Given the description of an element on the screen output the (x, y) to click on. 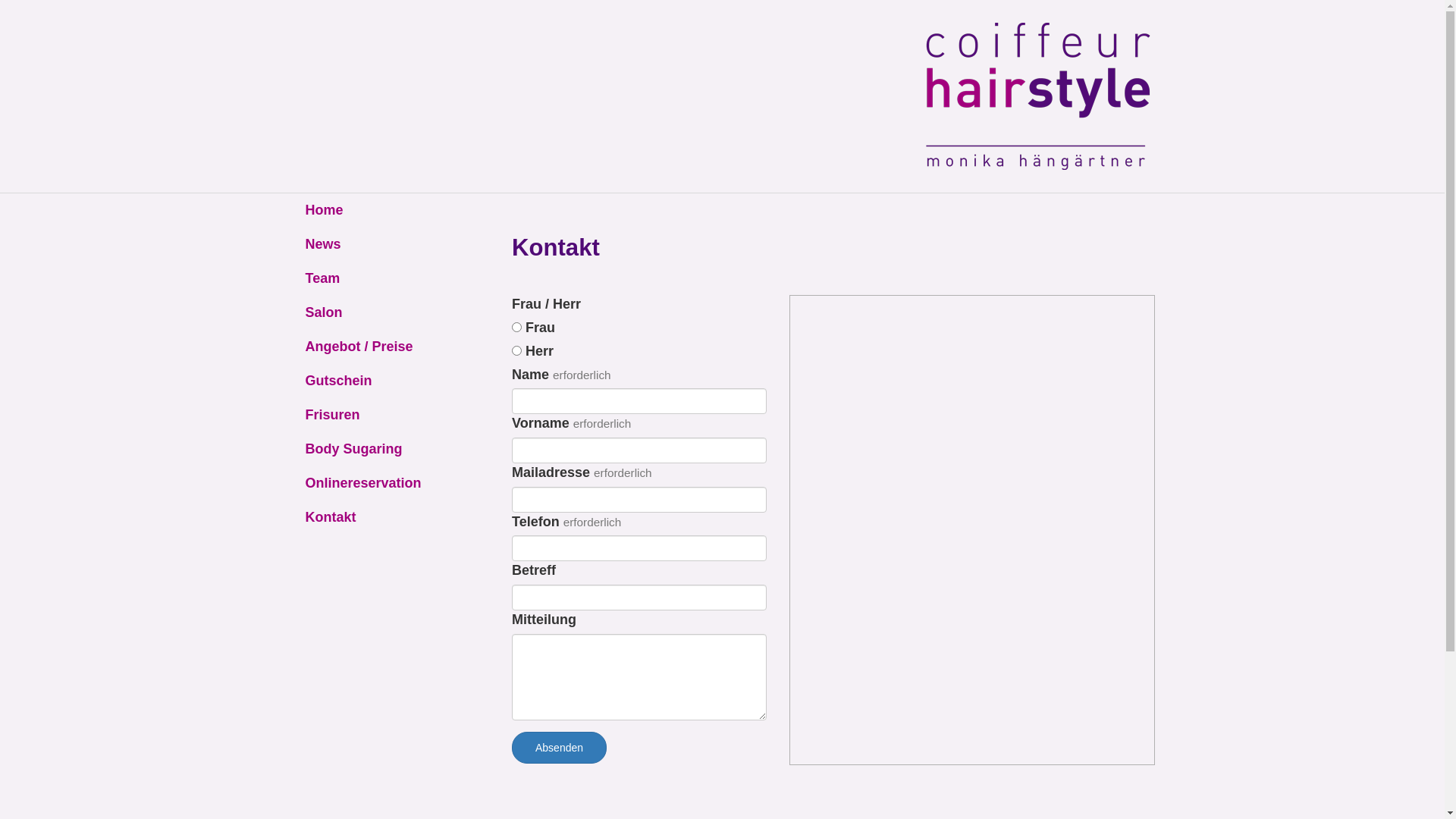
Gutschein Element type: text (389, 381)
Team Element type: text (389, 278)
Kontakt Element type: text (389, 517)
Angebot / Preise Element type: text (389, 346)
Absenden Element type: text (558, 747)
Frisuren Element type: text (389, 415)
Home Element type: text (389, 210)
Salon Element type: text (389, 312)
News Element type: text (389, 244)
Body Sugaring Element type: text (389, 449)
Onlinereservation Element type: text (389, 483)
